Given the description of an element on the screen output the (x, y) to click on. 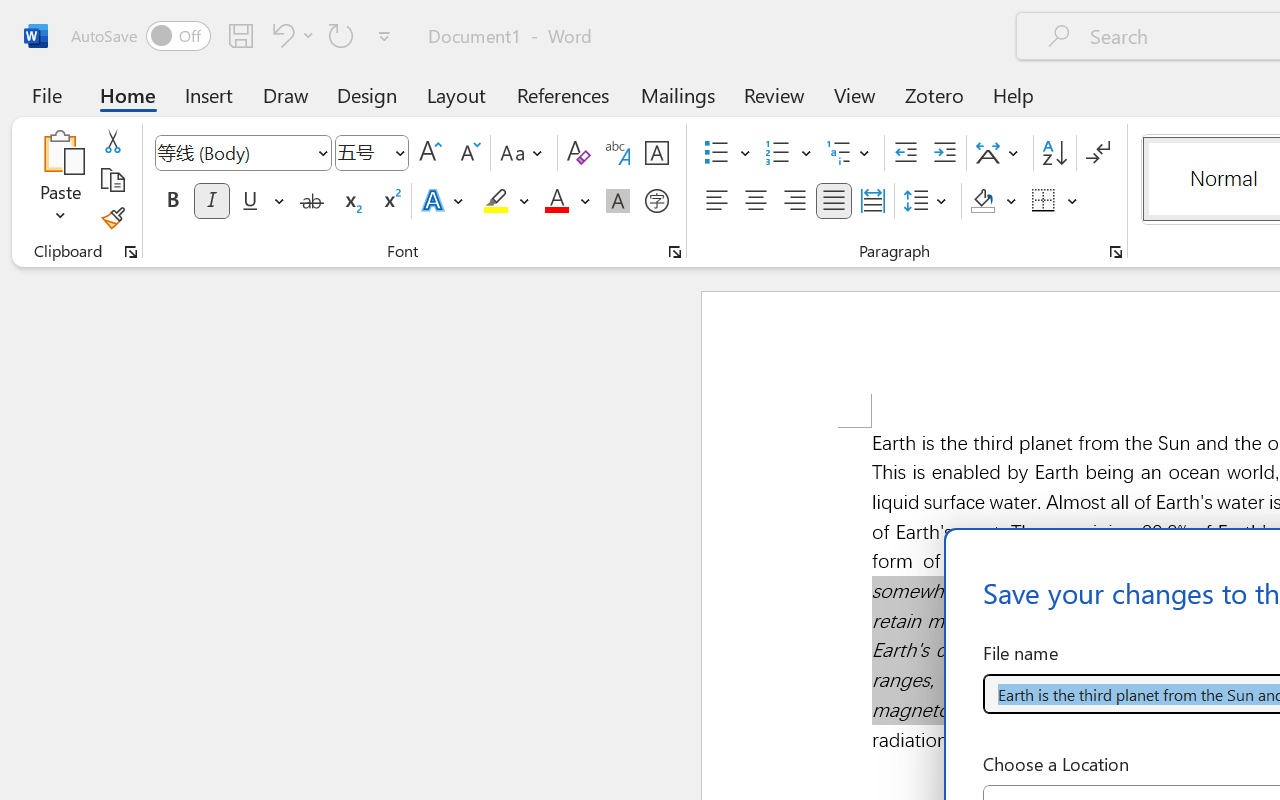
Undo Italic (290, 35)
Clear Formatting (578, 153)
Align Right (794, 201)
Phonetic Guide... (618, 153)
Show/Hide Editing Marks (1098, 153)
Subscript (350, 201)
Center (756, 201)
Change Case (524, 153)
Justify (834, 201)
